Given the description of an element on the screen output the (x, y) to click on. 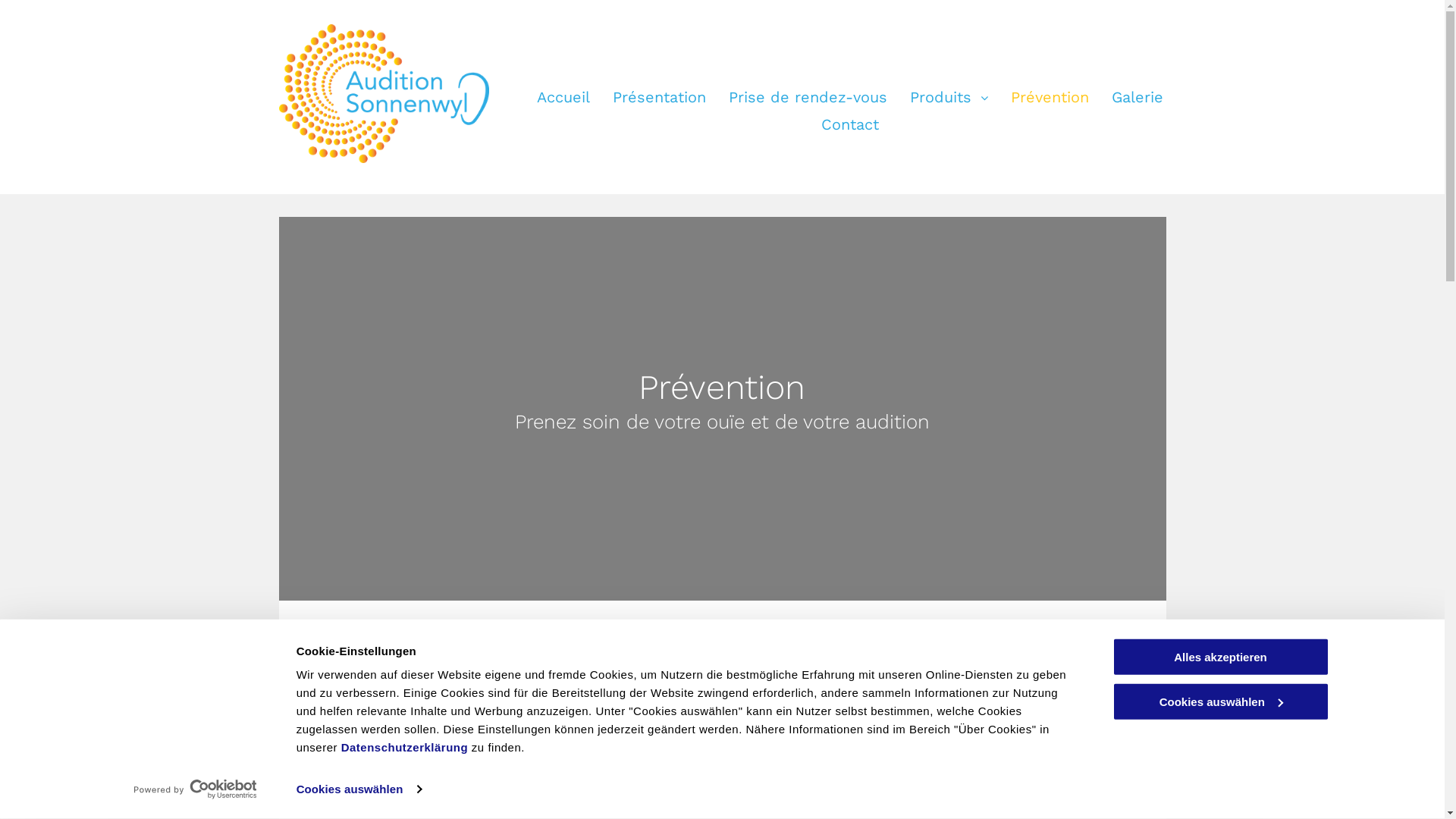
Prise de rendez-vous Element type: text (807, 96)
Galerie Element type: text (1137, 96)
Contact Element type: text (849, 124)
Produits Element type: text (949, 96)
Alles akzeptieren Element type: text (1219, 656)
Accueil Element type: text (562, 96)
